Given the description of an element on the screen output the (x, y) to click on. 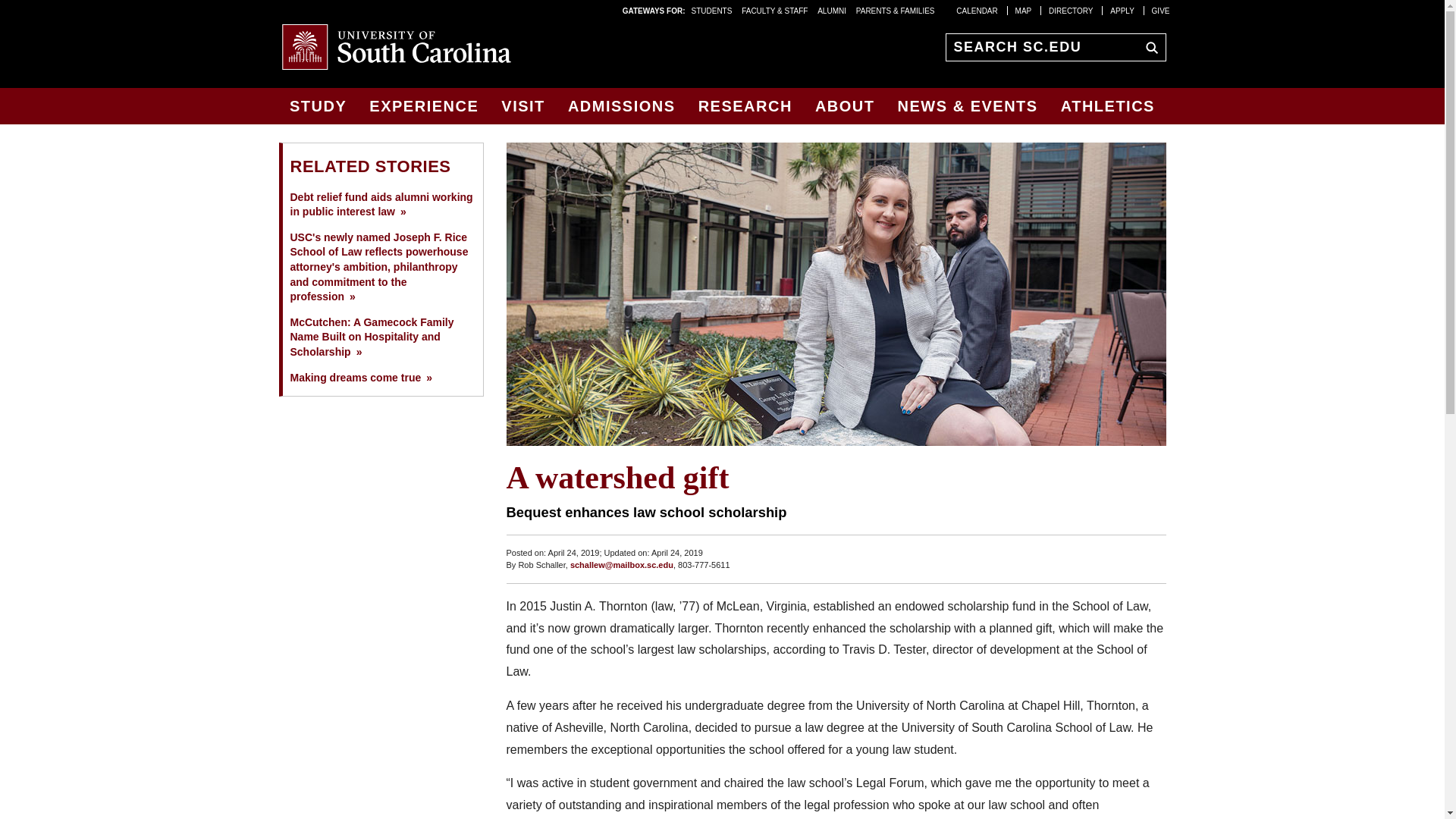
DIRECTORY (1070, 9)
GO (1148, 46)
GO (1148, 46)
GIVE (1160, 9)
APPLY (1121, 9)
CALENDAR (976, 9)
ALUMNI (830, 9)
sc.edu Search (1148, 46)
MAP (1023, 9)
STUDY (318, 105)
VISIT (523, 105)
STUDENTS (713, 9)
EXPERIENCE (423, 105)
